Given the description of an element on the screen output the (x, y) to click on. 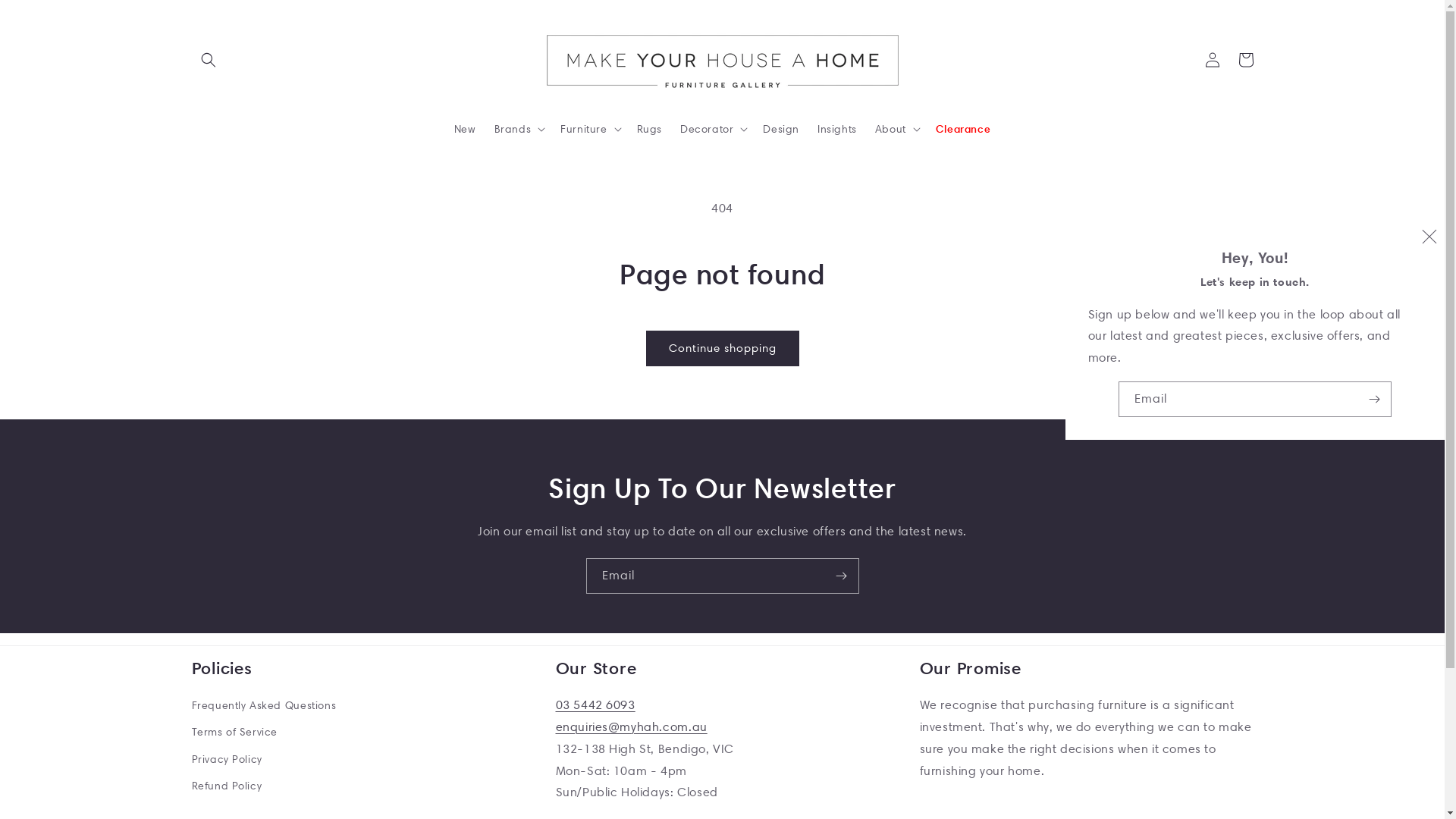
Log in Element type: text (1211, 59)
Continue shopping Element type: text (722, 348)
Privacy Policy Element type: text (226, 759)
Frequently Asked Questions Element type: text (263, 707)
Rugs Element type: text (649, 128)
New Element type: text (465, 128)
Cart Element type: text (1244, 59)
Insights Element type: text (837, 128)
Design Element type: text (780, 128)
Clearance Element type: text (962, 128)
03 5442 6093 Element type: text (594, 704)
enquiries@myhah.com.au Element type: text (630, 726)
Terms of Service Element type: text (234, 731)
Refund Policy Element type: text (226, 785)
